Given the description of an element on the screen output the (x, y) to click on. 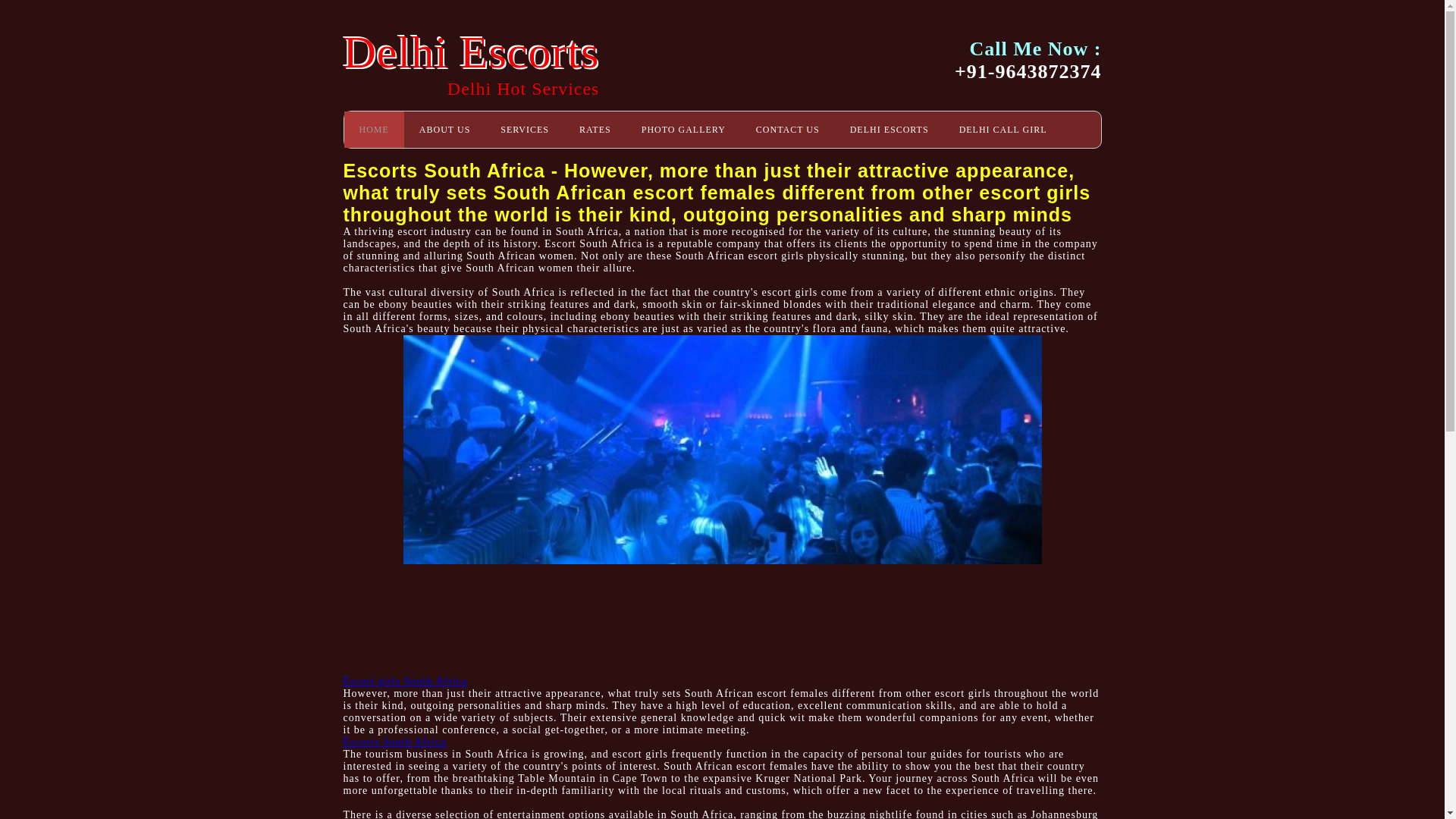
Escort girls South Africa (404, 681)
Delhi Hot Services (522, 88)
PHOTO GALLERY (683, 129)
Escorts South Africa (393, 741)
HOME (373, 129)
DELHI ESCORTS (888, 129)
SERVICES (524, 129)
DELHI CALL GIRL (1002, 129)
ABOUT US (444, 129)
CONTACT US (787, 129)
Delhi Escorts (470, 51)
RATES (595, 129)
